Given the description of an element on the screen output the (x, y) to click on. 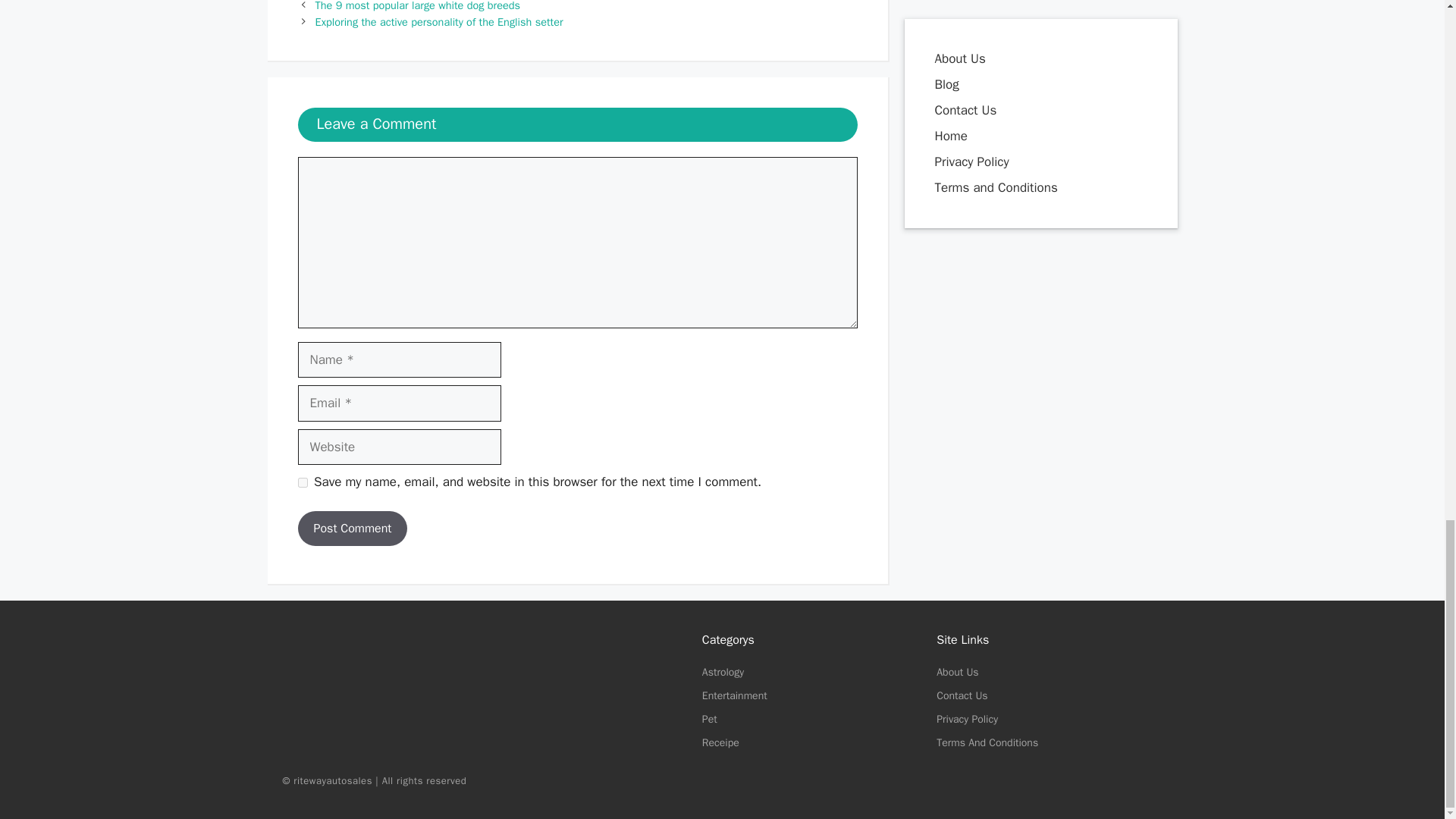
About Us (959, 6)
Exploring the active personality of the English setter (439, 21)
yes (302, 482)
Privacy Policy (971, 107)
Blog (946, 30)
Entertainment (734, 695)
Post Comment (352, 528)
Home  (952, 82)
Astrology (722, 671)
Post Comment (352, 528)
Terms and Conditions (995, 133)
The 9 most popular large white dog breeds (417, 6)
Contact Us (964, 56)
